Given the description of an element on the screen output the (x, y) to click on. 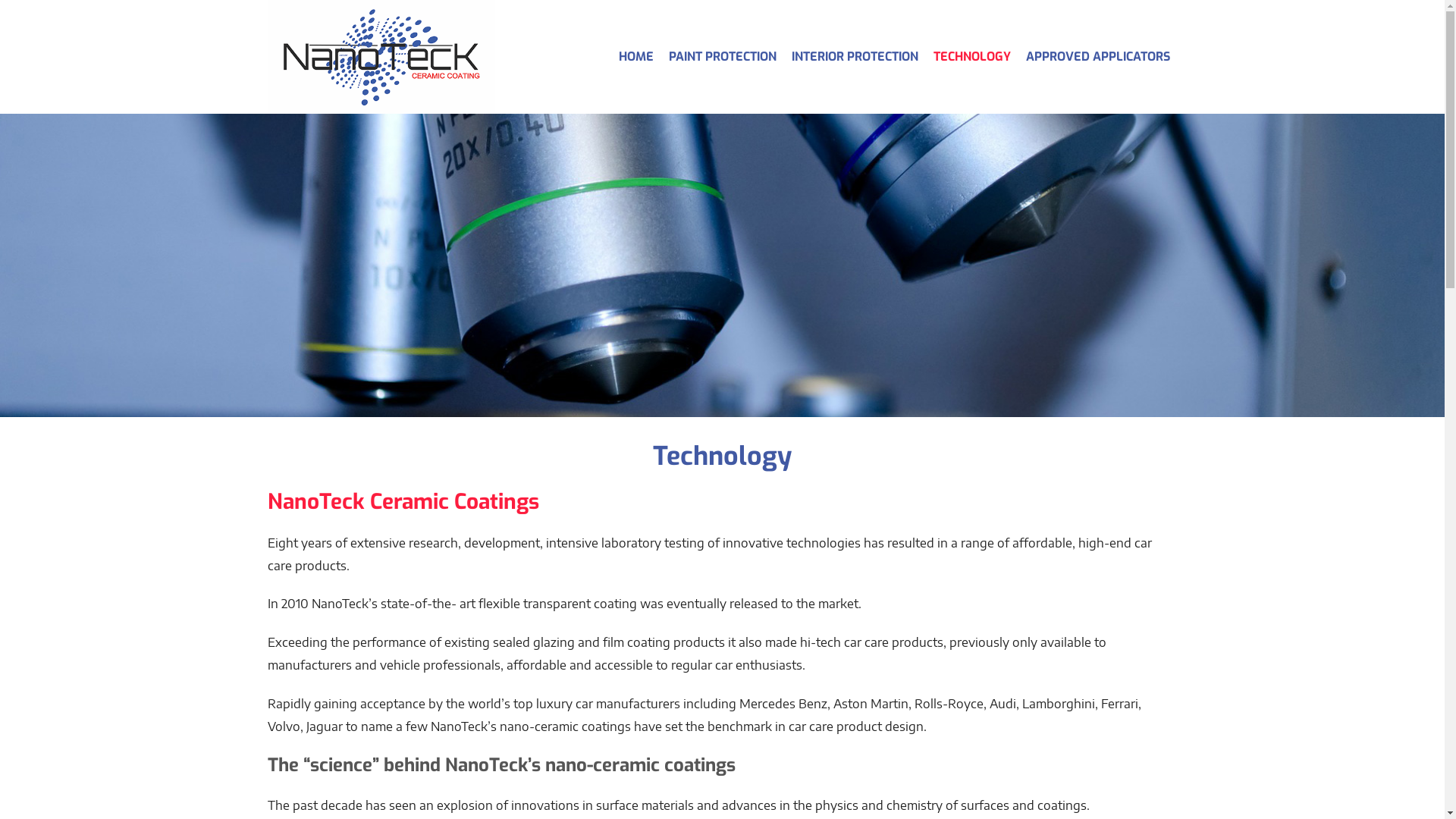
INTERIOR PROTECTION Element type: text (854, 56)
APPROVED APPLICATORS Element type: text (1096, 56)
HOME Element type: text (636, 56)
TECHNOLOGY Element type: text (971, 56)
PAINT PROTECTION Element type: text (722, 56)
